Given the description of an element on the screen output the (x, y) to click on. 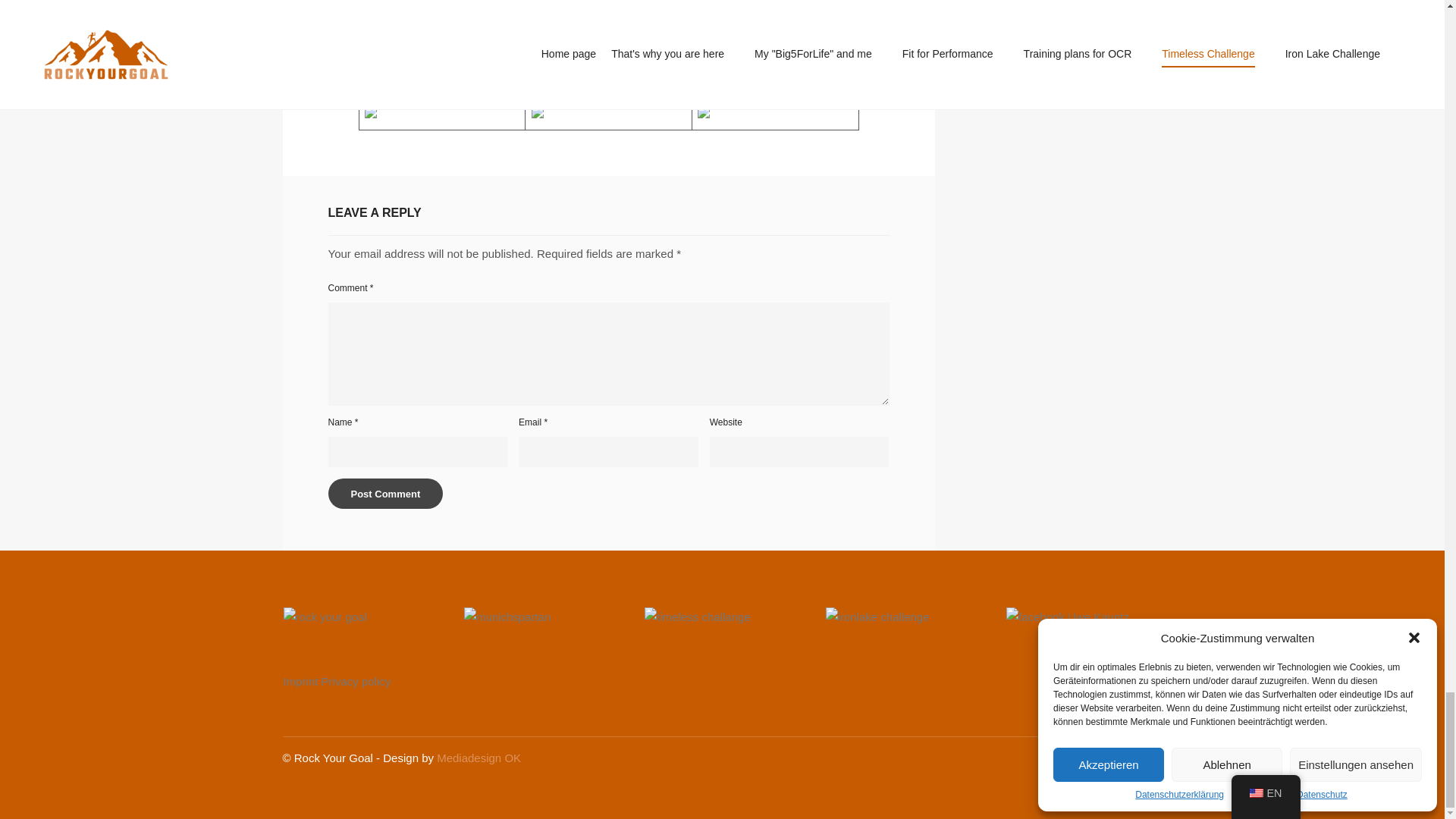
Post Comment (384, 493)
